Given the description of an element on the screen output the (x, y) to click on. 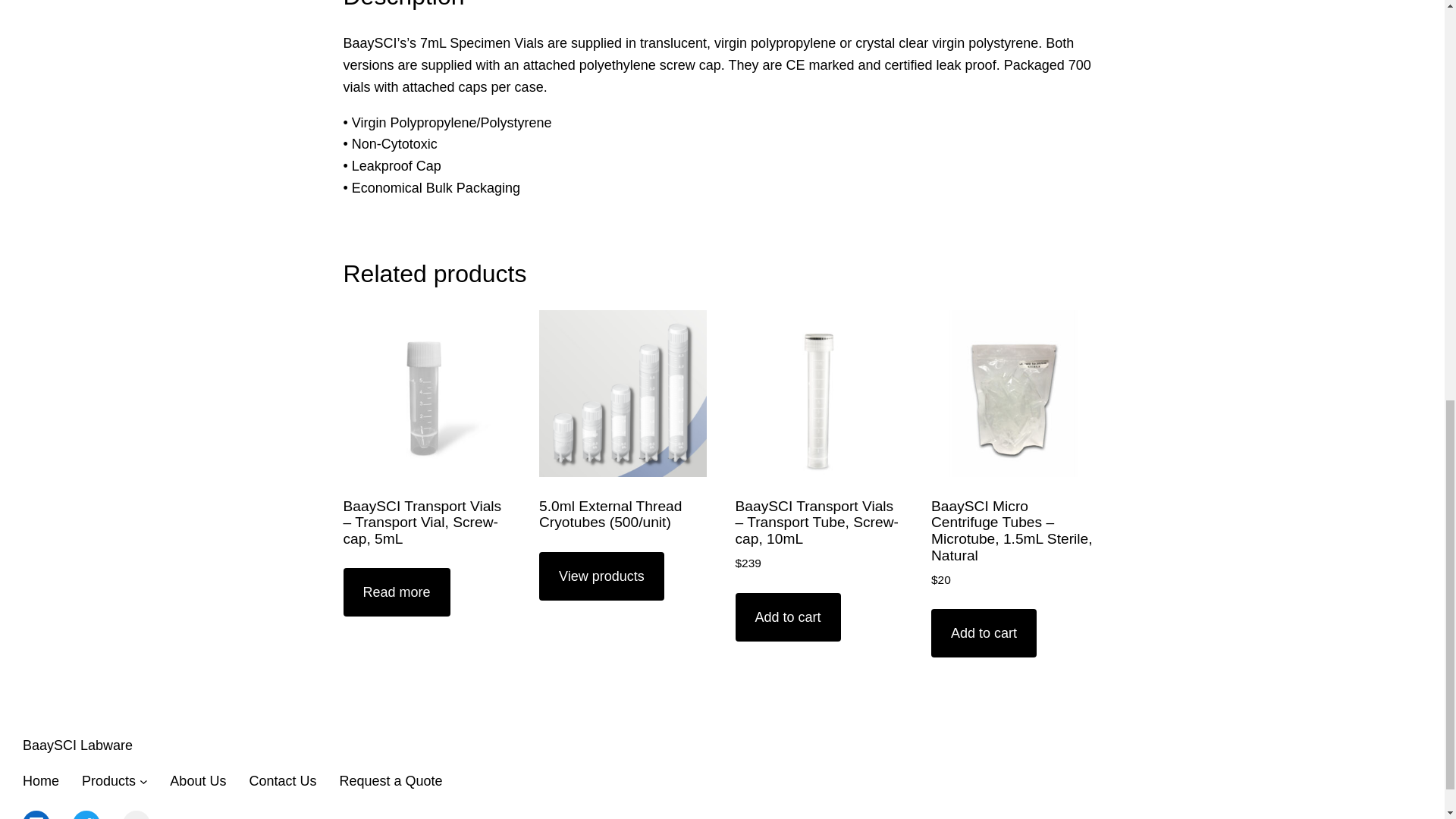
Add to cart (788, 616)
Products (108, 781)
Home (41, 781)
Read more (395, 592)
View products (600, 576)
Add to cart (983, 633)
About Us (197, 781)
